Given the description of an element on the screen output the (x, y) to click on. 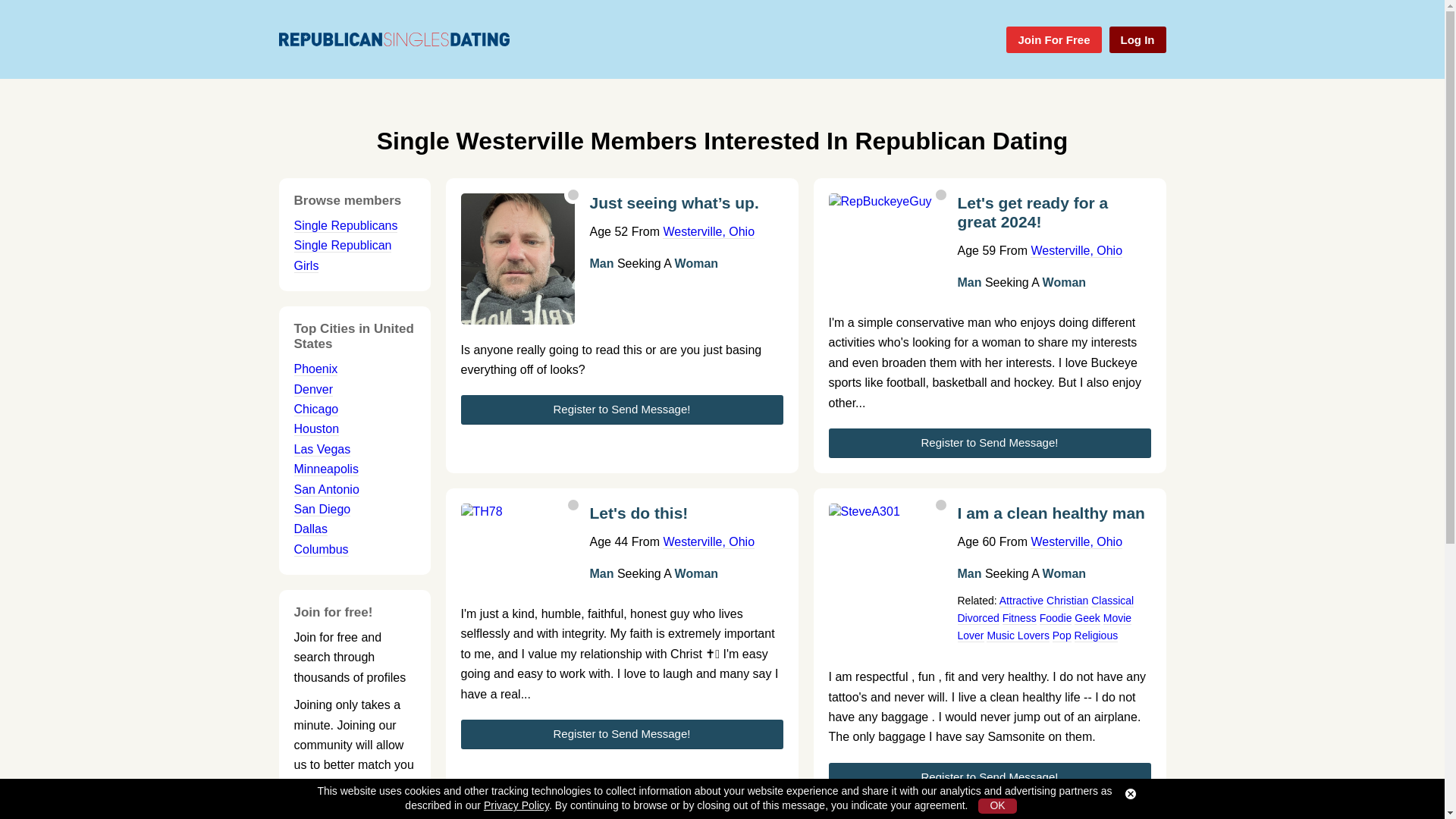
Westerville, Ohio (708, 541)
Register to Send Message! (622, 734)
Single Republican Girls (342, 255)
Dallas (310, 529)
Chicago (316, 409)
Single Republicans (345, 225)
San Antonio (326, 489)
Privacy Policy (515, 805)
Join Now (354, 814)
OK (997, 806)
Let's do this! (686, 518)
Log In (1137, 39)
Join For Free (1053, 39)
Minneapolis (326, 468)
Register to Send Message! (622, 409)
